Given the description of an element on the screen output the (x, y) to click on. 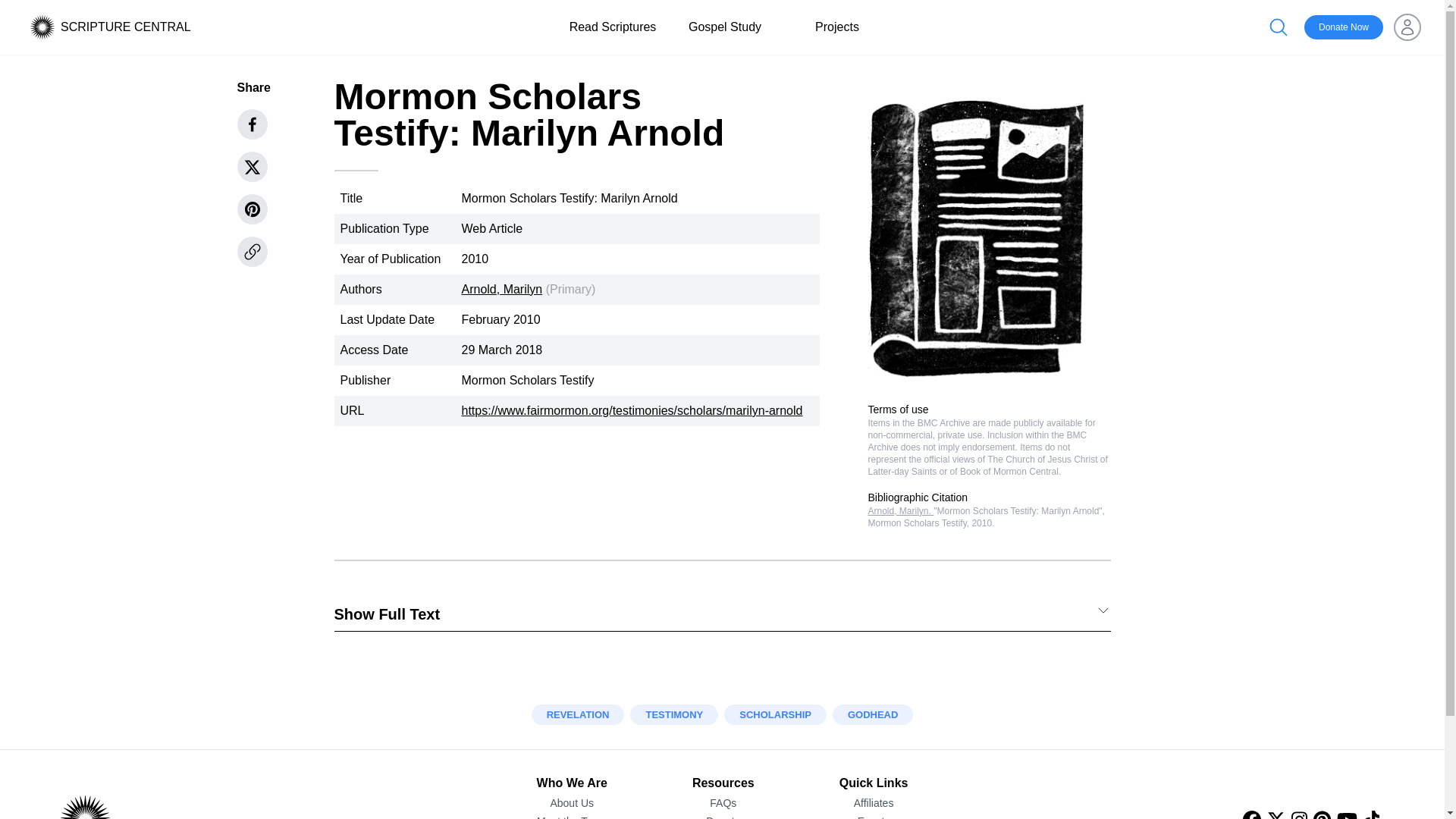
Gospel Study (724, 27)
Open user menu (1406, 27)
Donate Now (1343, 27)
Gospel Study (724, 26)
FAQs (723, 802)
SCRIPTURE CENTRAL (125, 27)
Resource center (1406, 780)
Projects (837, 26)
Affiliates (873, 802)
About Us (572, 802)
Meet the Team (572, 816)
Projects (837, 27)
Arnold, Marilyn (501, 288)
Read Scriptures (612, 26)
Donate (722, 816)
